Given the description of an element on the screen output the (x, y) to click on. 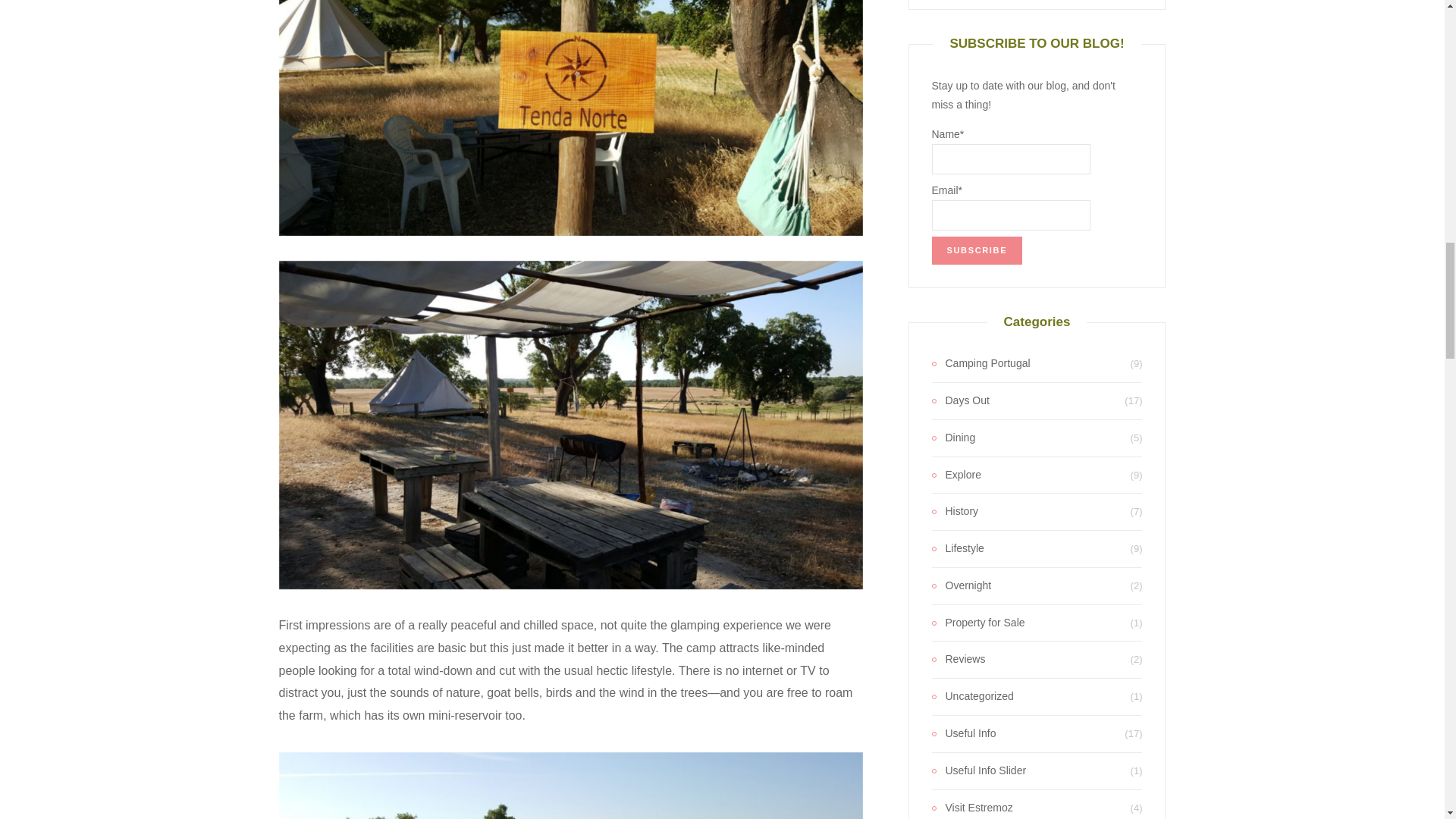
Subscribe (976, 250)
